Given the description of an element on the screen output the (x, y) to click on. 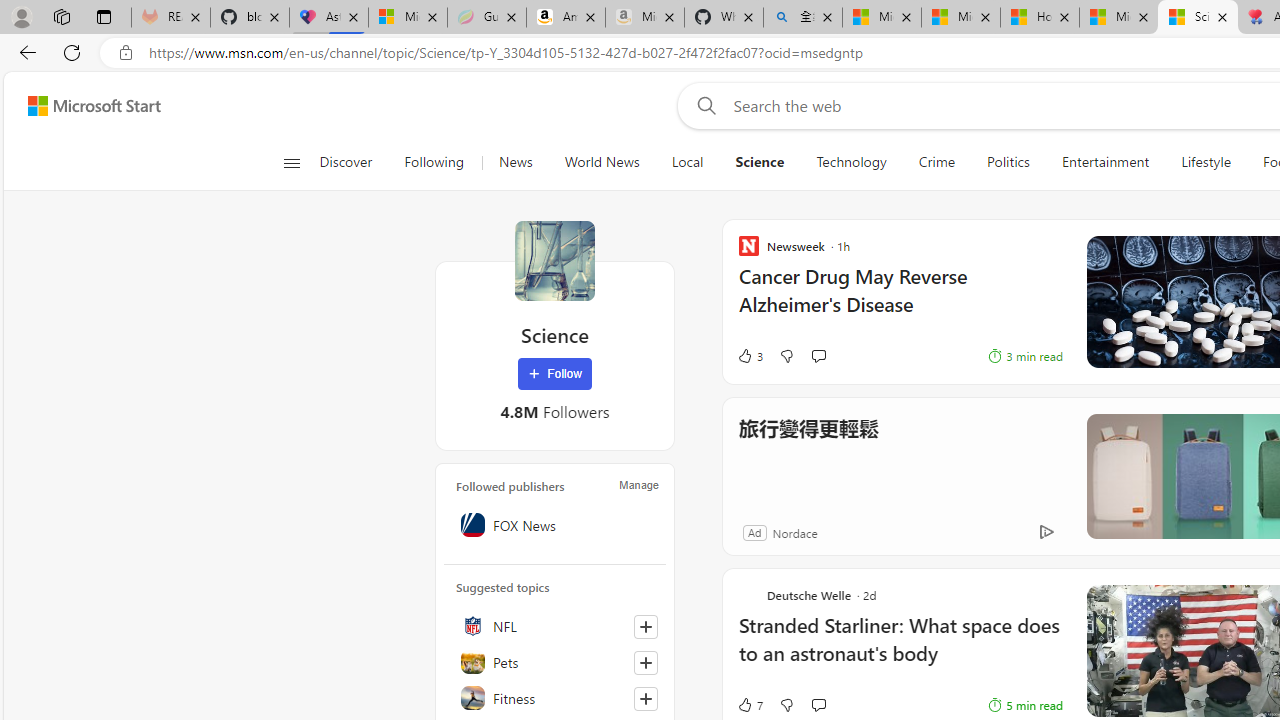
Open navigation menu (291, 162)
Pets (555, 661)
Local (687, 162)
Follow (554, 373)
Crime (936, 162)
